Given the description of an element on the screen output the (x, y) to click on. 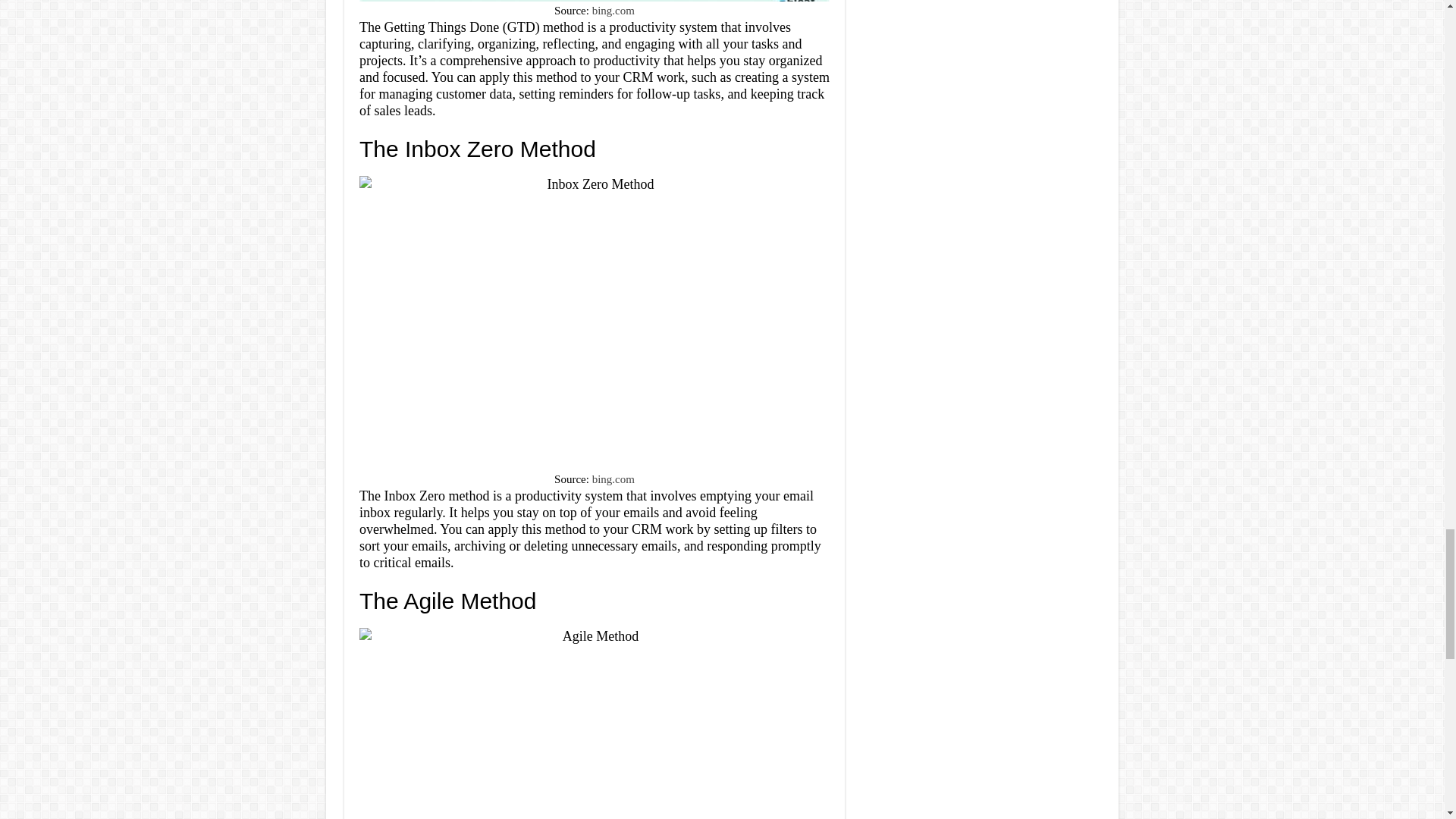
bing.com (613, 479)
bing.com (613, 10)
